Given the description of an element on the screen output the (x, y) to click on. 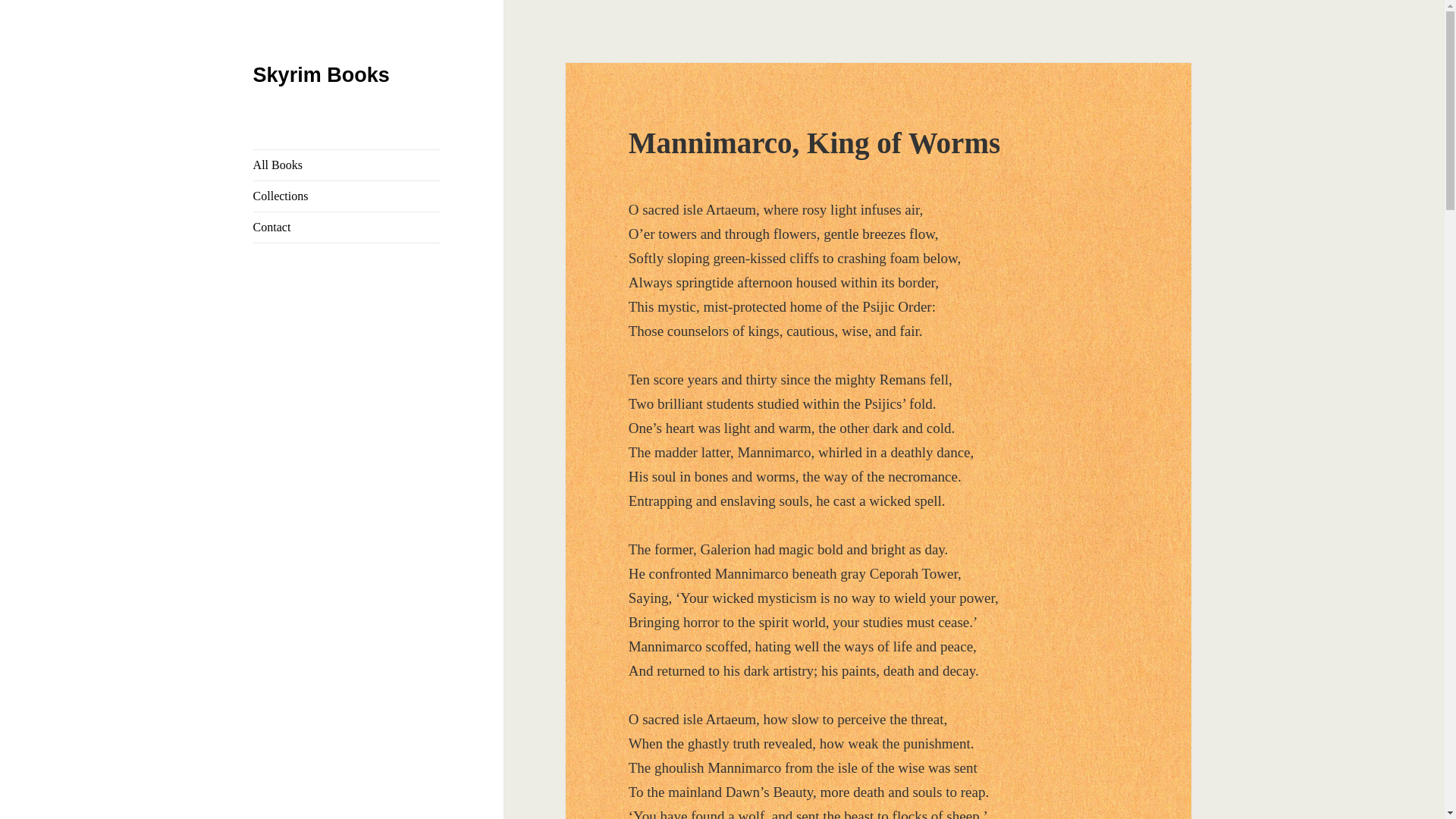
Collections (347, 195)
All Books (347, 164)
Contact (347, 227)
Skyrim Books (321, 74)
